Given the description of an element on the screen output the (x, y) to click on. 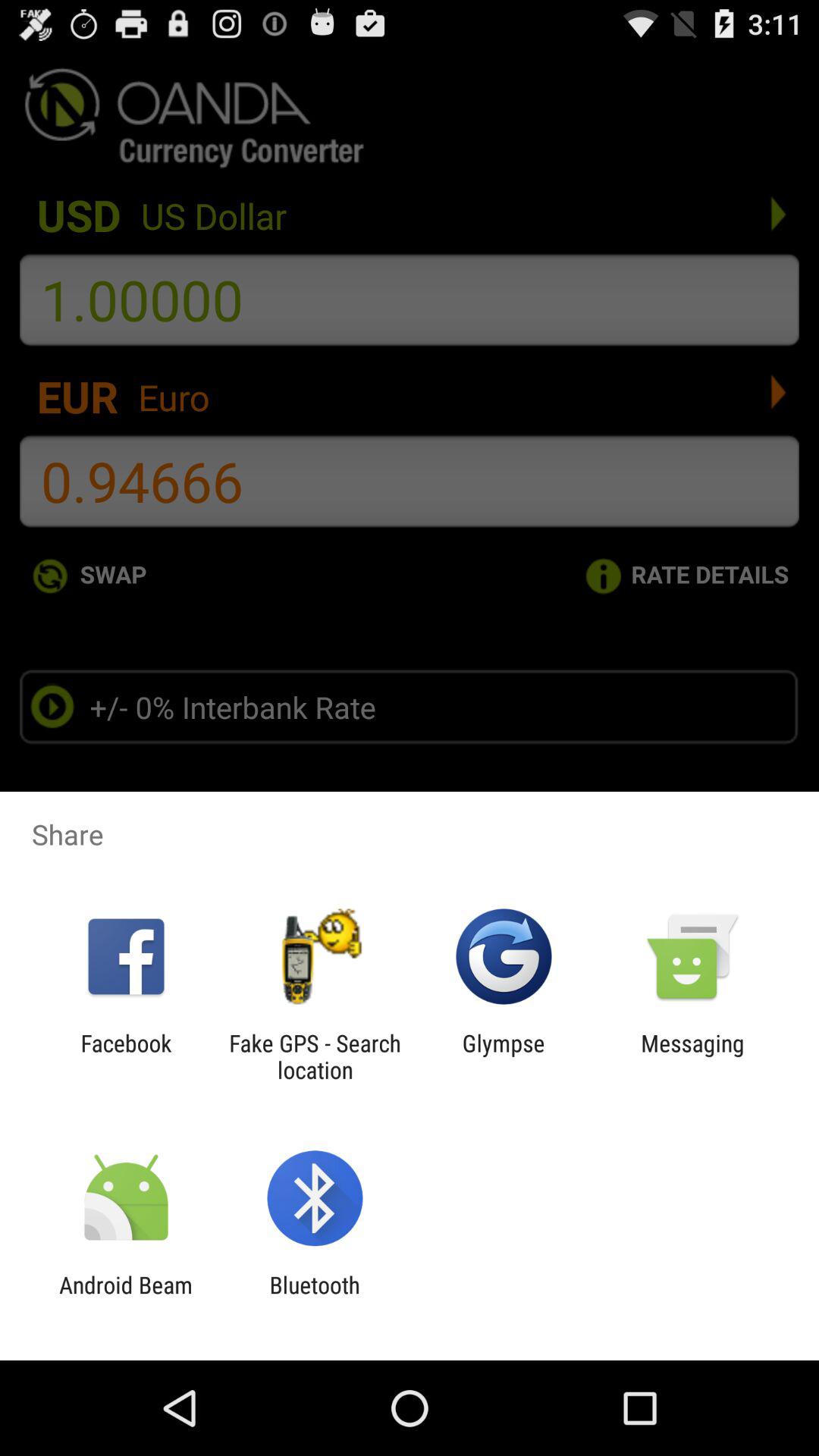
launch item next to the android beam app (314, 1298)
